Given the description of an element on the screen output the (x, y) to click on. 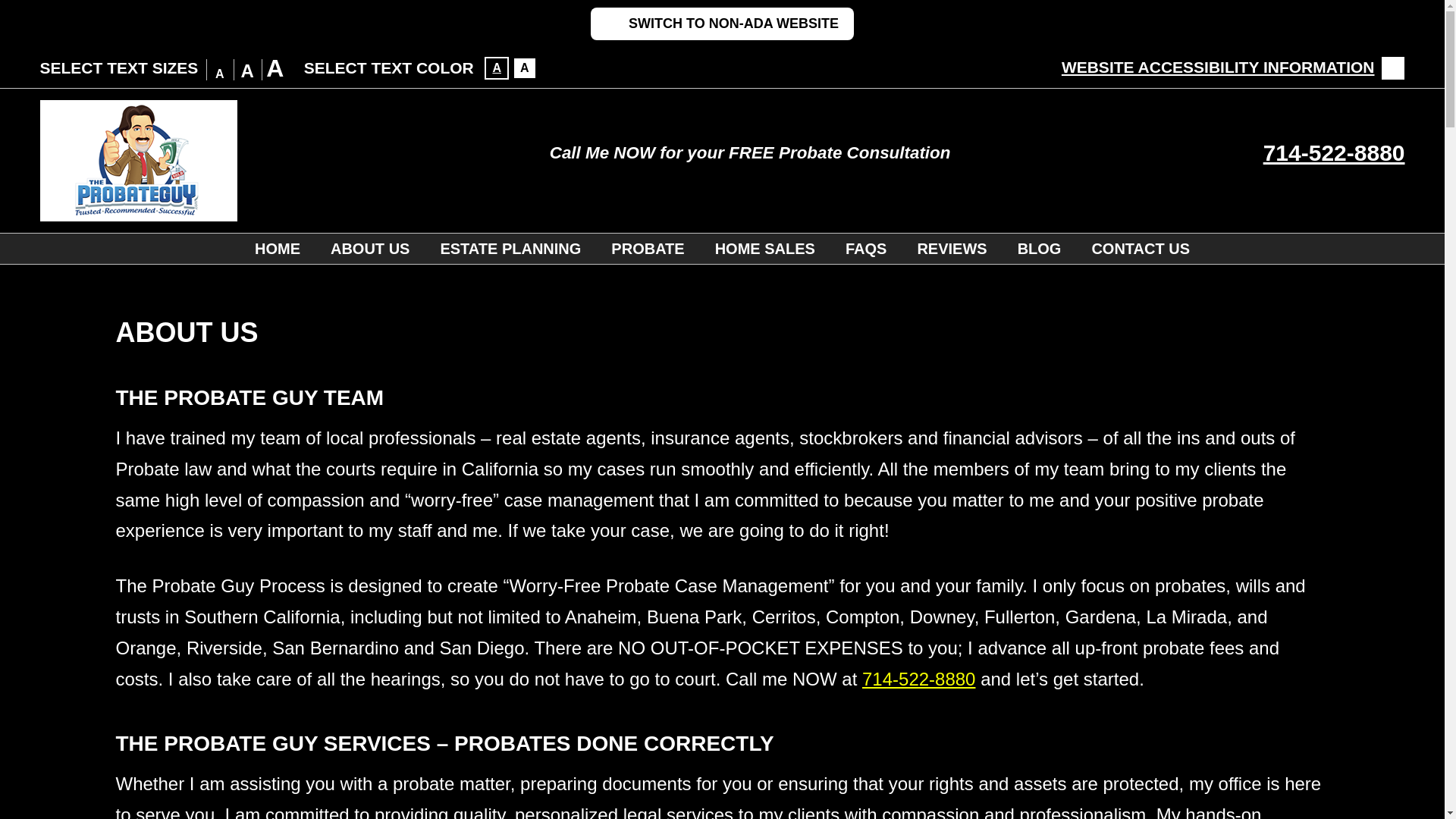
CONTACT US (1140, 248)
WEBSITE ACCESSIBILITY INFORMATION (1233, 67)
REVIEWS (951, 248)
A (496, 67)
PROBATE (646, 248)
Click to view external accessibility article (1233, 67)
ABOUT US (370, 248)
ESTATE PLANNING (510, 248)
714-522-8880 (1334, 152)
A (274, 68)
A (524, 67)
BLOG (1040, 248)
A (219, 73)
A (247, 71)
HOME SALES (764, 248)
